Given the description of an element on the screen output the (x, y) to click on. 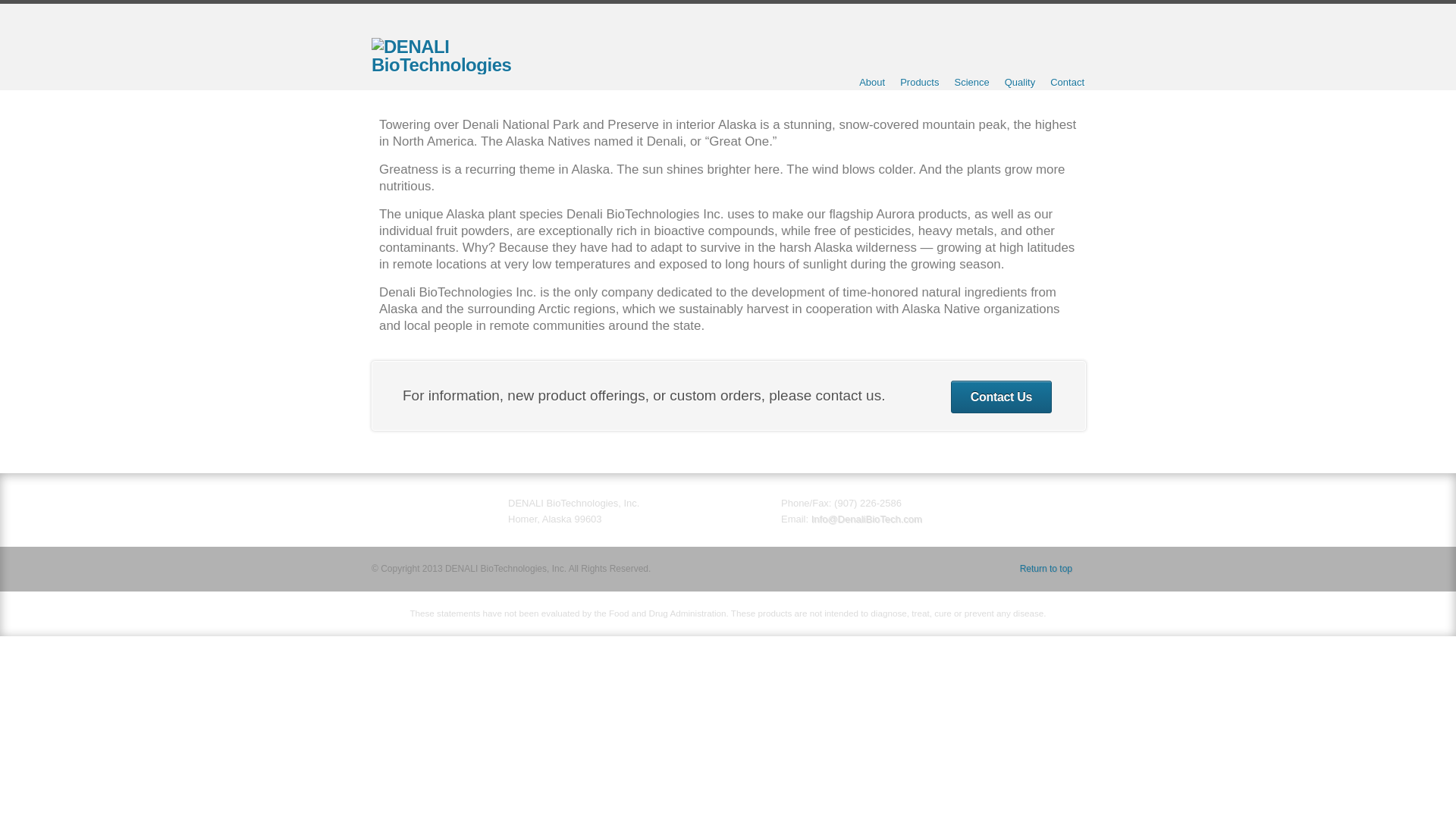
Contact Us (1000, 397)
Science (970, 82)
Products (919, 82)
Contact (1067, 82)
Return to top (1052, 568)
About (871, 82)
Quality (1019, 82)
